Given the description of an element on the screen output the (x, y) to click on. 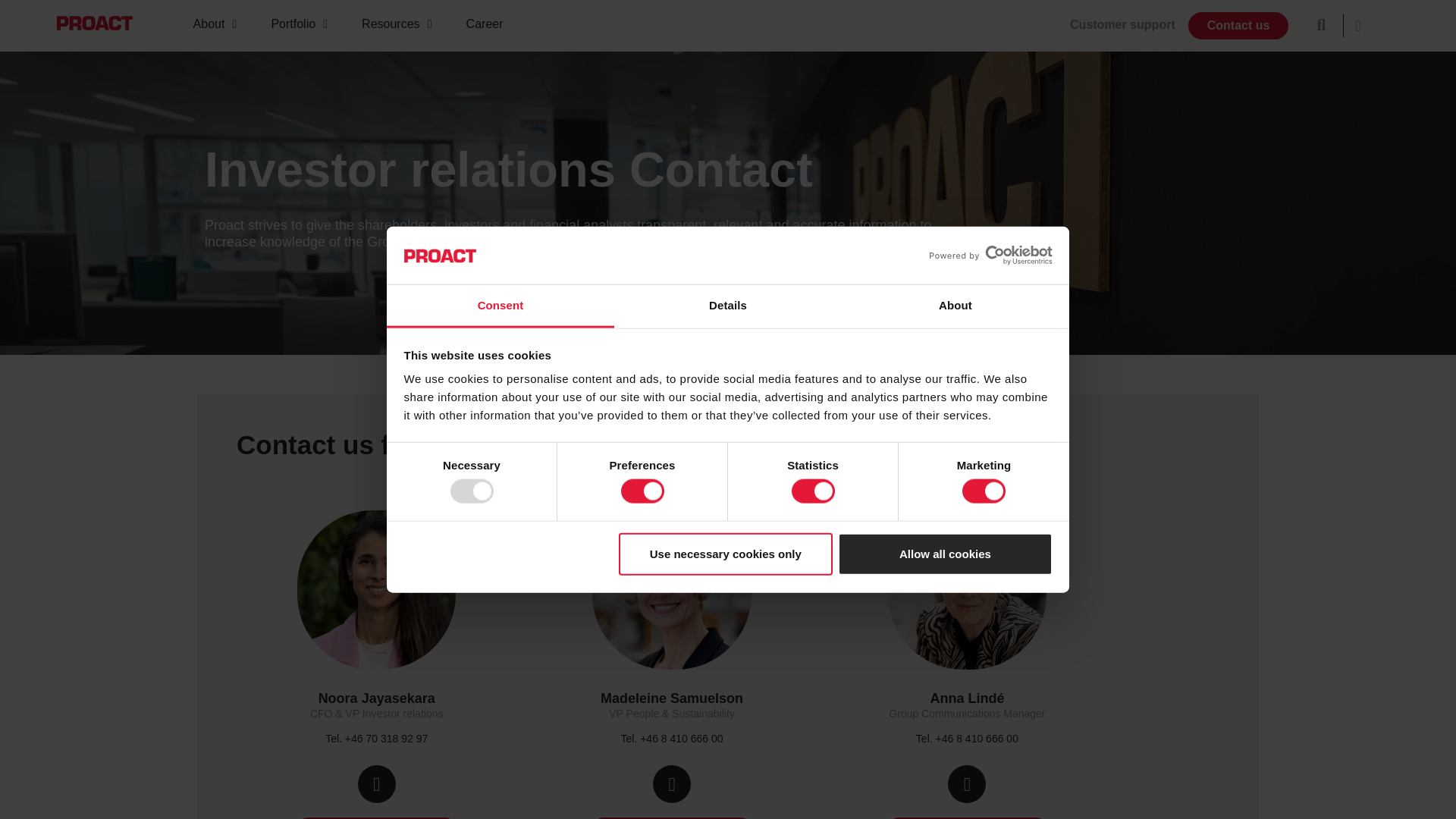
Details (727, 306)
proact-logo (94, 22)
Consent (500, 306)
Allow all cookies (944, 553)
About (954, 306)
Use necessary cookies only (725, 553)
